Given the description of an element on the screen output the (x, y) to click on. 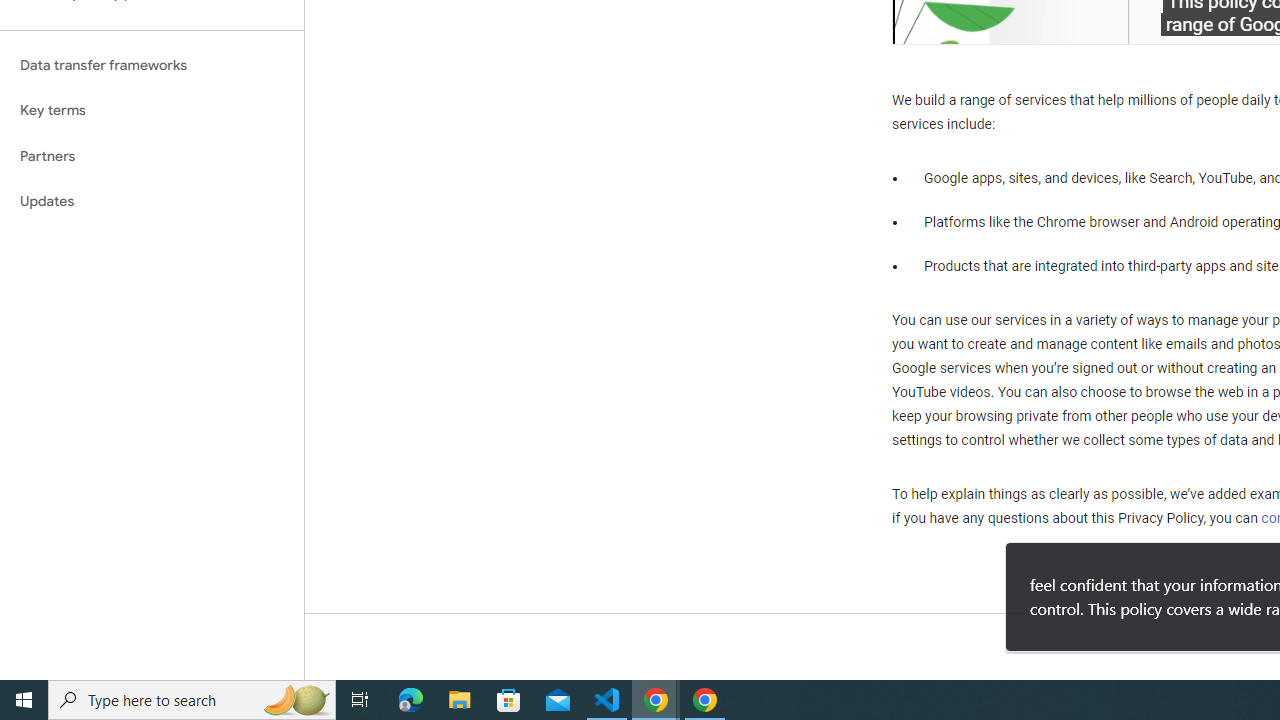
Mute (m) (970, 22)
Pause keyboard shortcut k (927, 22)
